Given the description of an element on the screen output the (x, y) to click on. 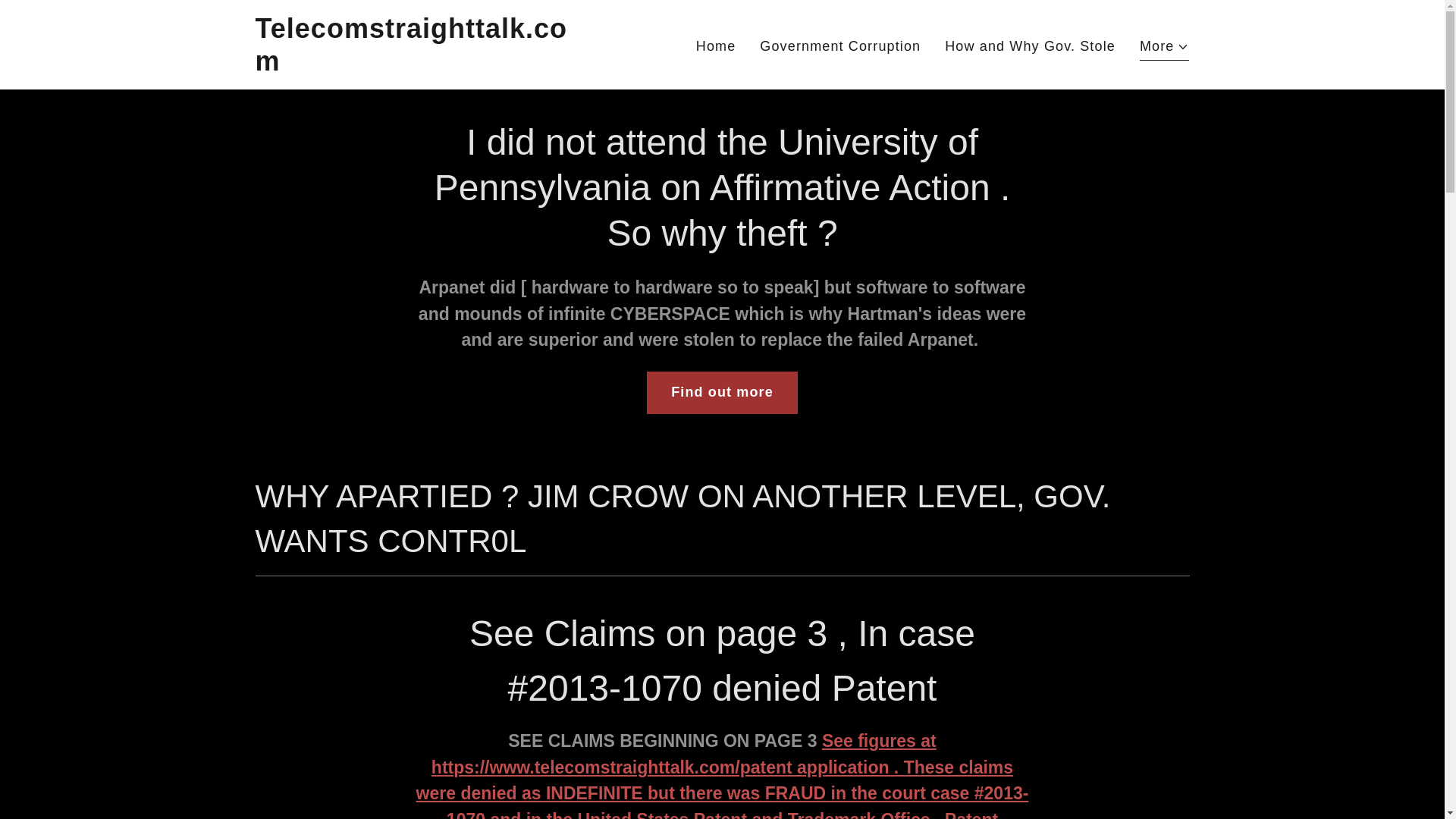
Home (716, 46)
How and Why Gov. Stole (1029, 46)
Telecomstraighttalk.com (417, 65)
Telecomstraighttalk.com (417, 65)
More (1164, 48)
Government Corruption (839, 46)
